Given the description of an element on the screen output the (x, y) to click on. 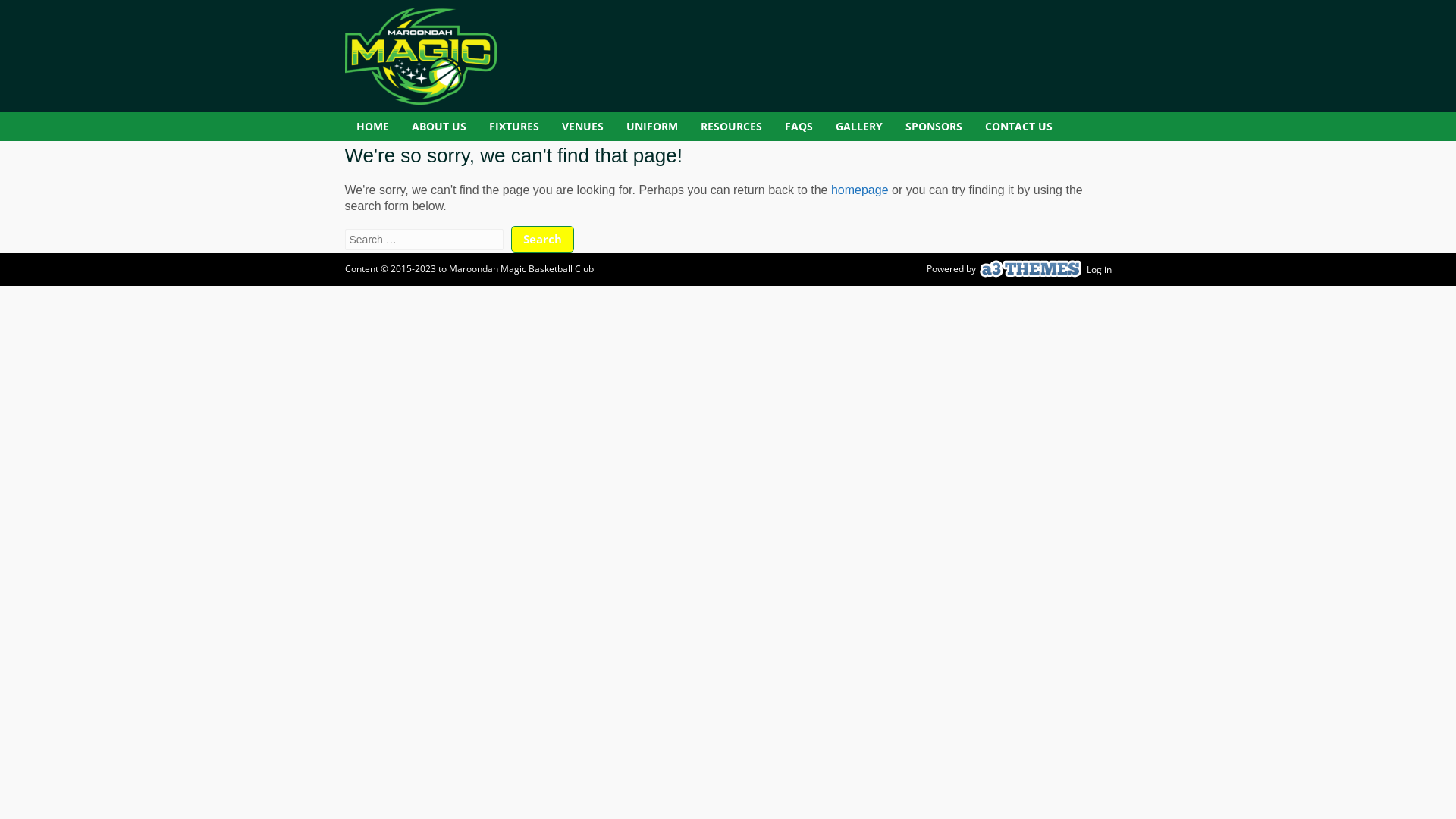
ABOUT US Element type: text (438, 126)
GALLERY Element type: text (858, 126)
UNIFORM Element type: text (651, 126)
SPONSORS Element type: text (932, 126)
RESOURCES Element type: text (730, 126)
homepage Element type: text (859, 189)
FAQS Element type: text (798, 126)
Search Element type: text (542, 238)
FIXTURES Element type: text (513, 126)
CONTACT US Element type: text (1018, 126)
HOME Element type: text (371, 126)
VENUES Element type: text (582, 126)
